Given the description of an element on the screen output the (x, y) to click on. 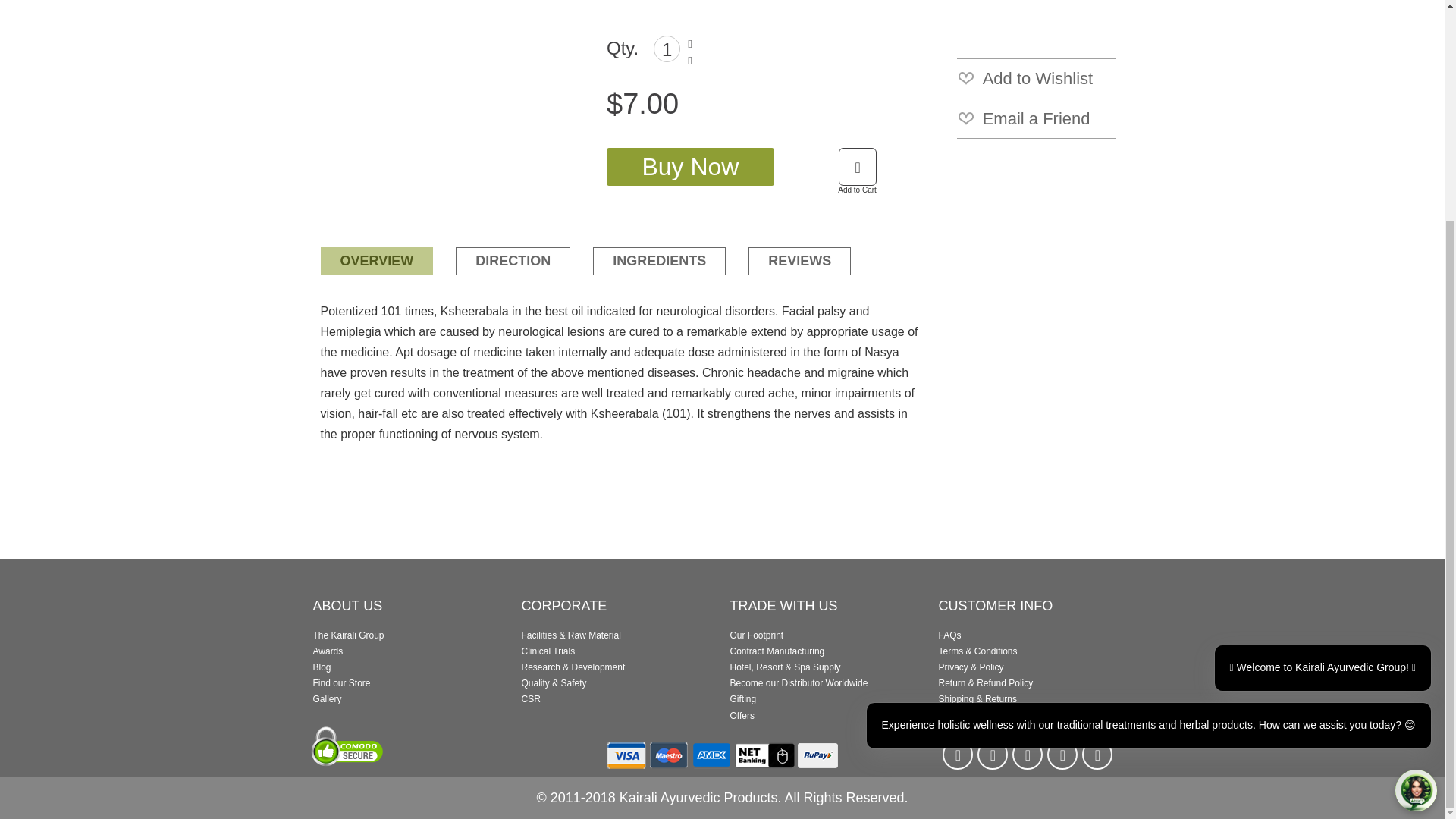
DIRECTION (512, 261)
OVERVIEW (376, 261)
The Kairali Group (348, 634)
Add to Wishlist (1036, 78)
INGREDIENTS (658, 261)
Buy Now (690, 166)
Buy Now (690, 166)
REVIEWS (799, 261)
Email a Friend (1036, 118)
